Given the description of an element on the screen output the (x, y) to click on. 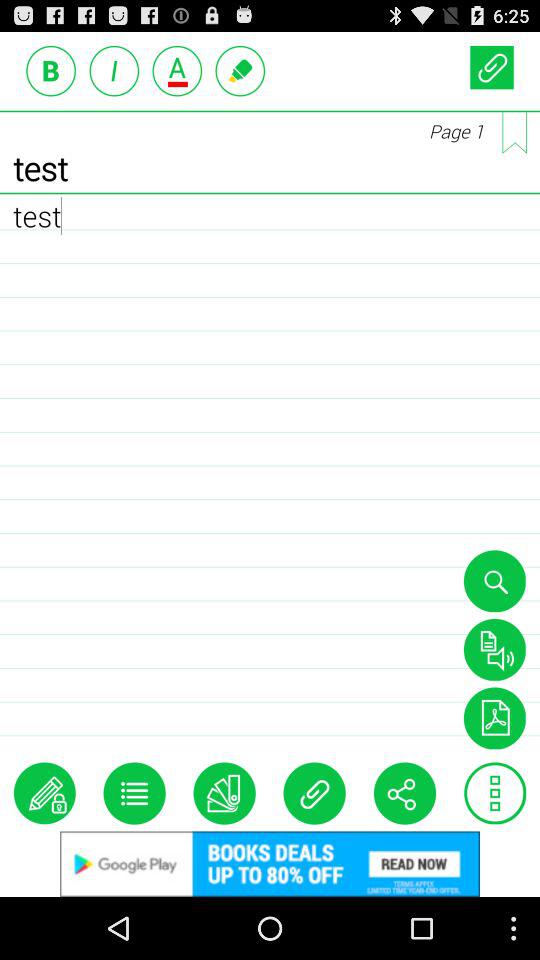
page change option (514, 132)
